Given the description of an element on the screen output the (x, y) to click on. 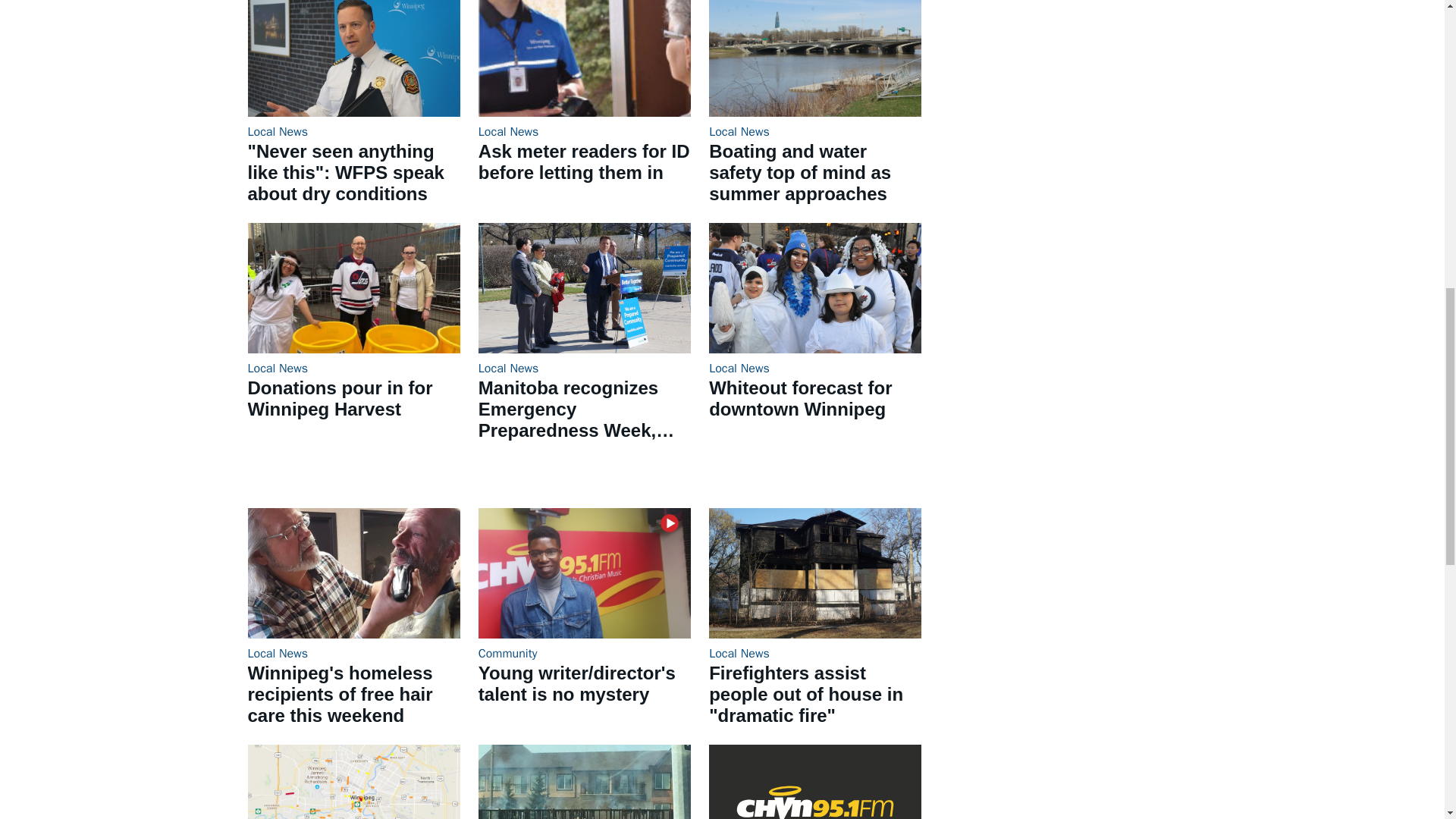
3rd party ad content (1068, 602)
3rd party ad content (1068, 88)
